Given the description of an element on the screen output the (x, y) to click on. 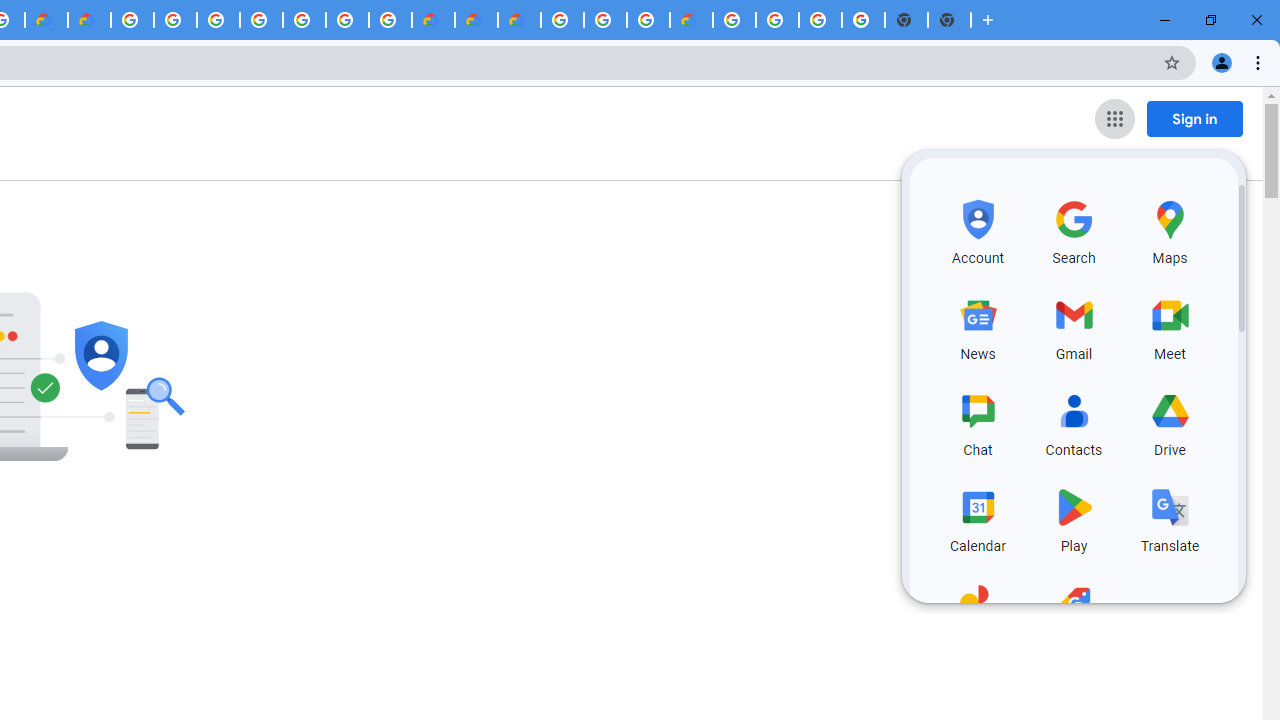
Google apps (1114, 118)
Minimize (1165, 20)
Bookmark this tab (1171, 62)
Customer Care | Google Cloud (45, 20)
Google Cloud Platform (562, 20)
Google Cloud Platform (132, 20)
New Tab (949, 20)
